Given the description of an element on the screen output the (x, y) to click on. 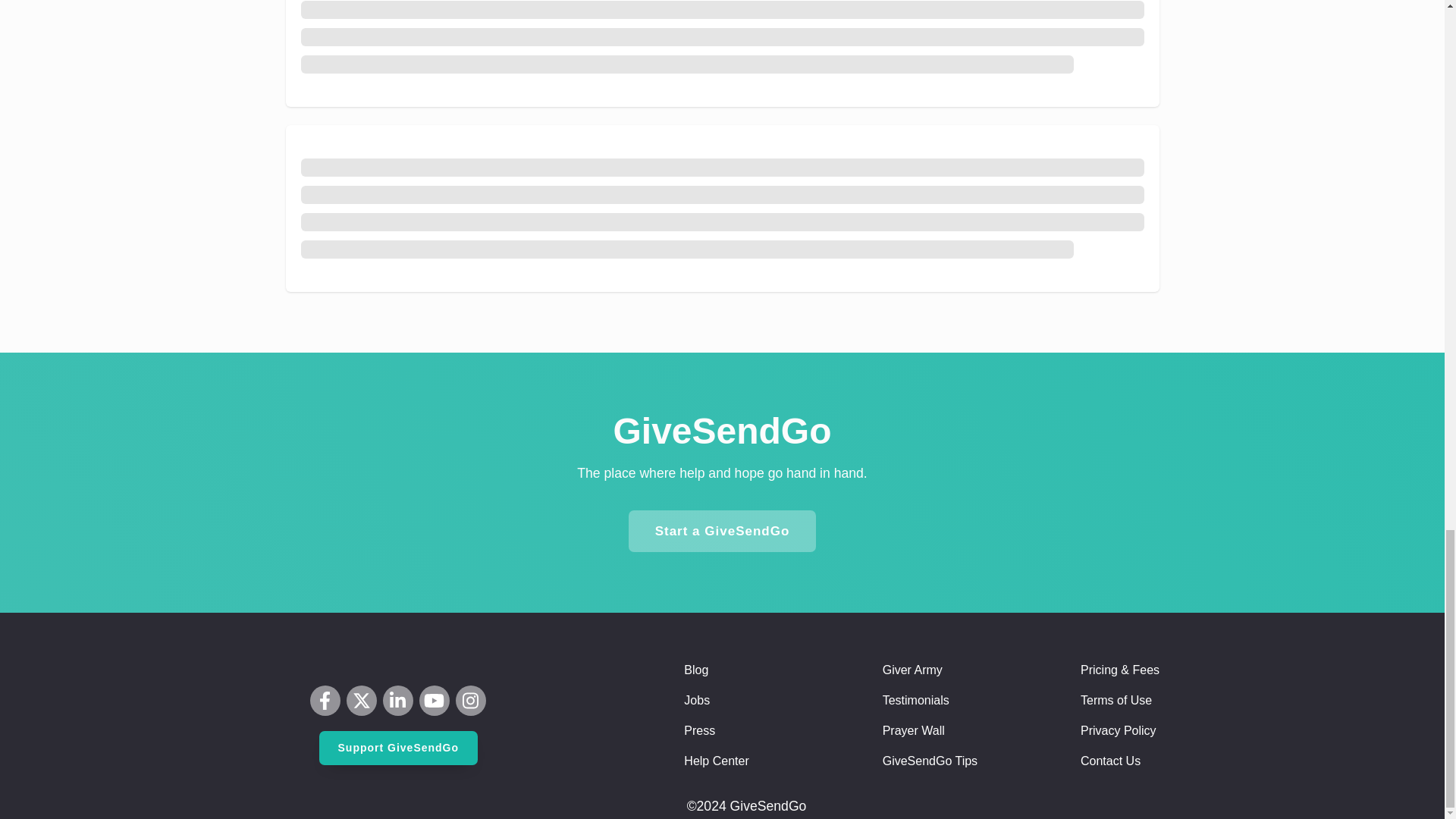
Start a GiveSendGo (722, 531)
Help Center (716, 761)
Support GiveSendGo (397, 747)
Terms of Use (1115, 700)
Prayer Wall (913, 730)
Contact Us (1110, 761)
GiveSendGo Tips (929, 761)
Jobs (697, 700)
Privacy Policy (1118, 730)
Giver Army (912, 669)
